Given the description of an element on the screen output the (x, y) to click on. 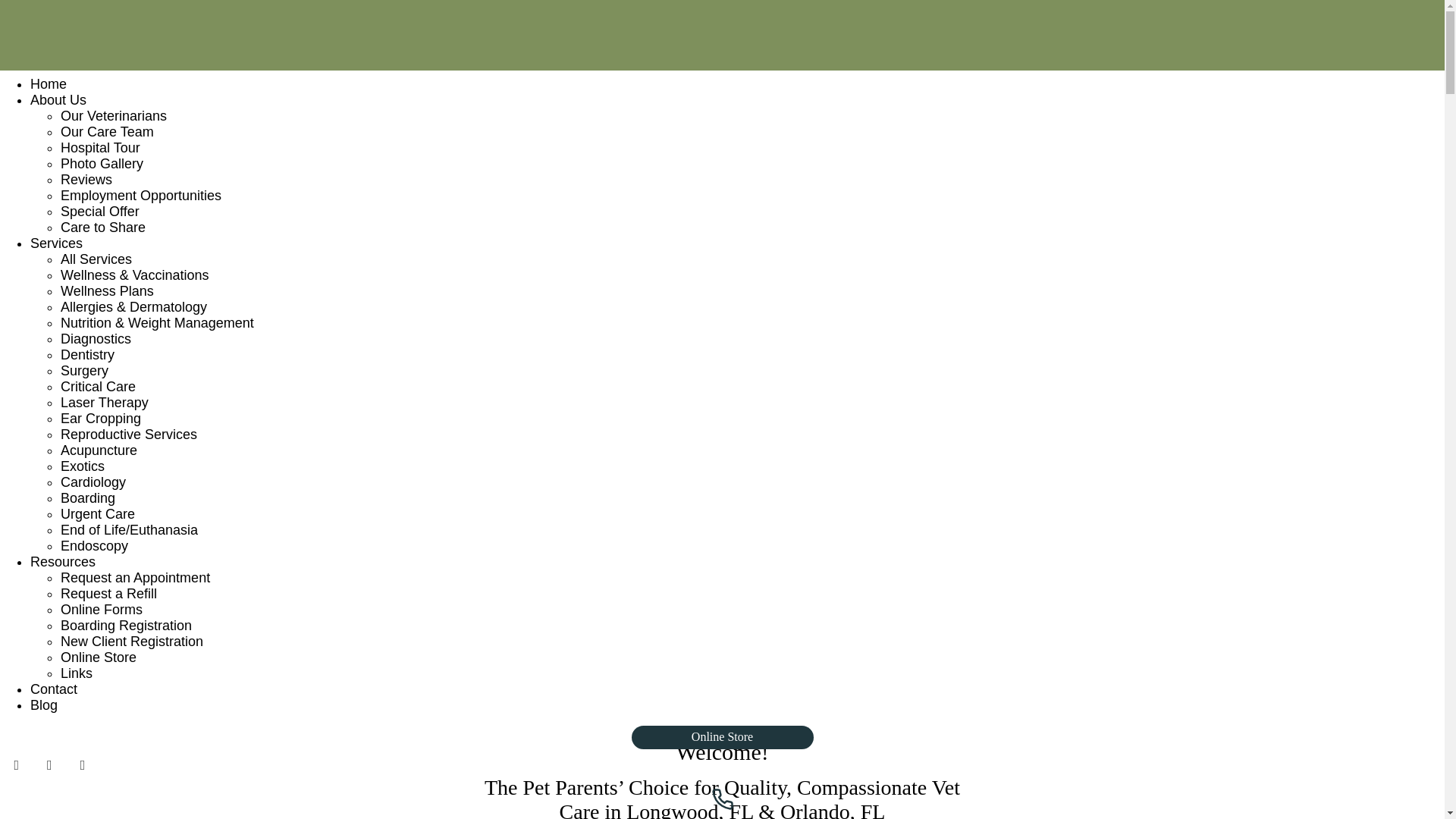
Instagram (82, 765)
Facebook (16, 765)
Google maps (49, 765)
